Given the description of an element on the screen output the (x, y) to click on. 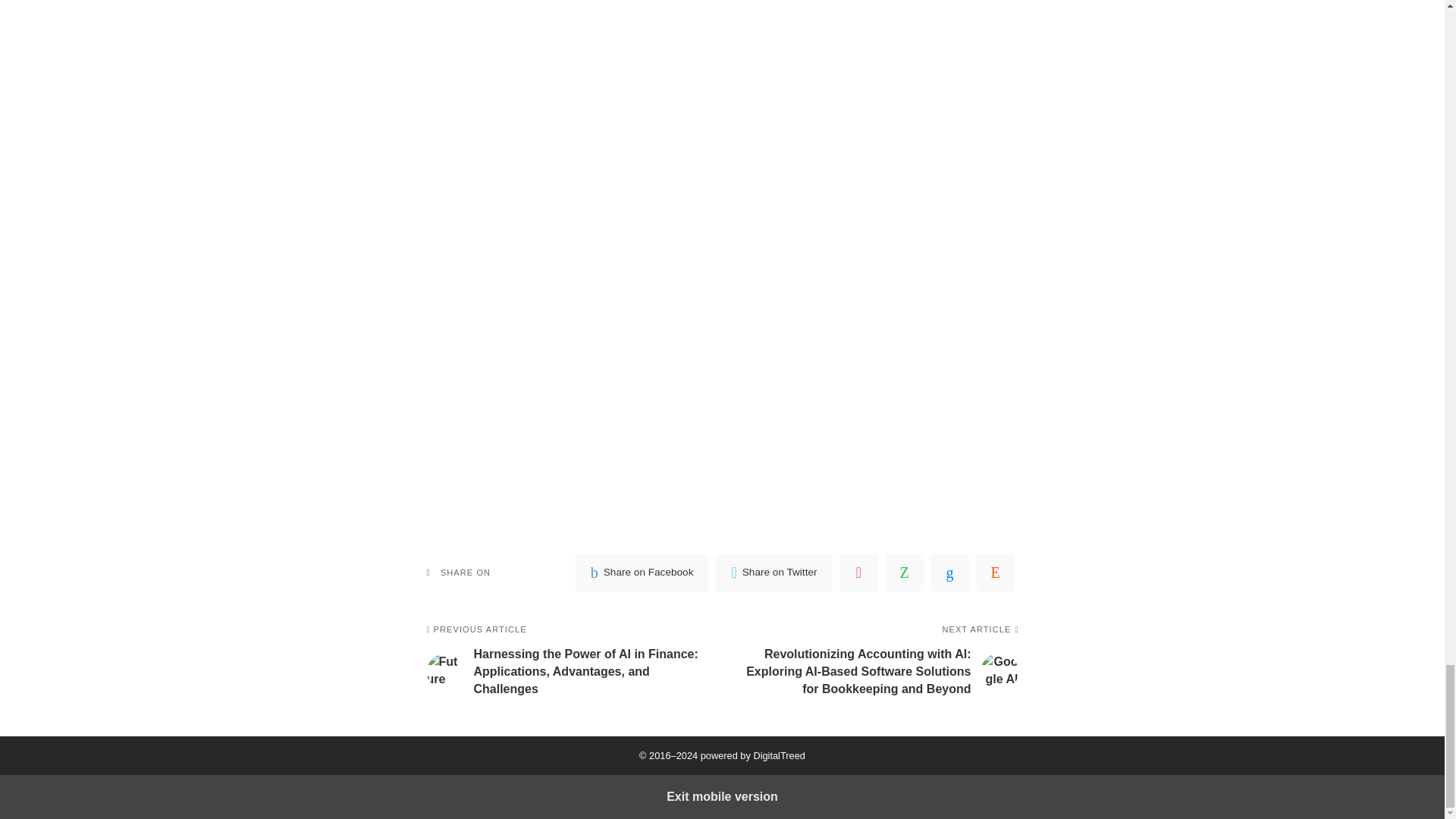
Twitter (773, 572)
Facebook (642, 572)
Pinterest (858, 572)
Share on Twitter (773, 572)
WhatsApp (904, 572)
linkedIn (950, 572)
Reddit (995, 572)
Share on Facebook (642, 572)
